Given the description of an element on the screen output the (x, y) to click on. 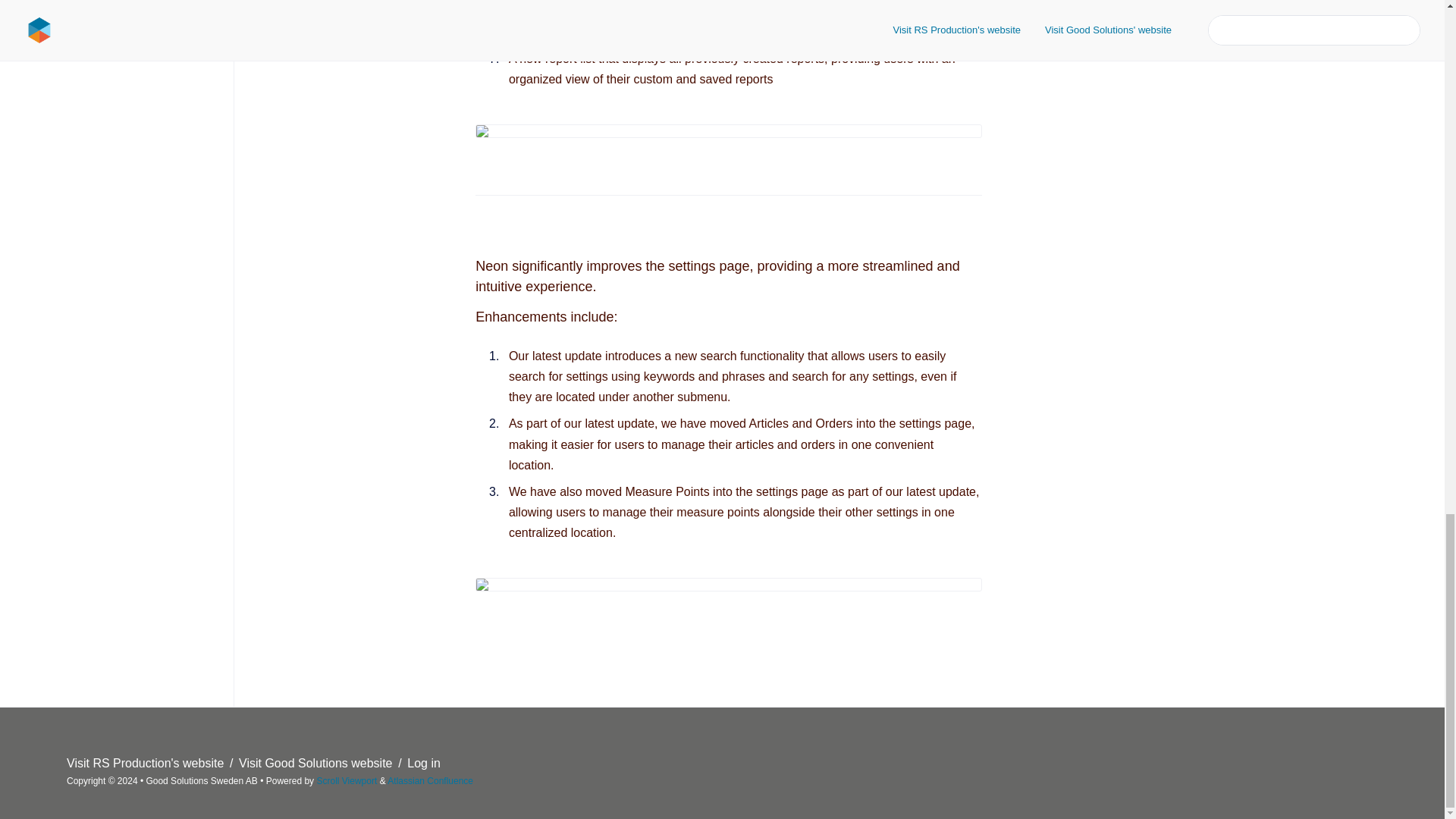
Scroll Viewport (346, 780)
Log in (424, 762)
Atlassian Confluence (430, 780)
Visit Good Solutions website (317, 762)
Visit RS Production's website (146, 762)
